Given the description of an element on the screen output the (x, y) to click on. 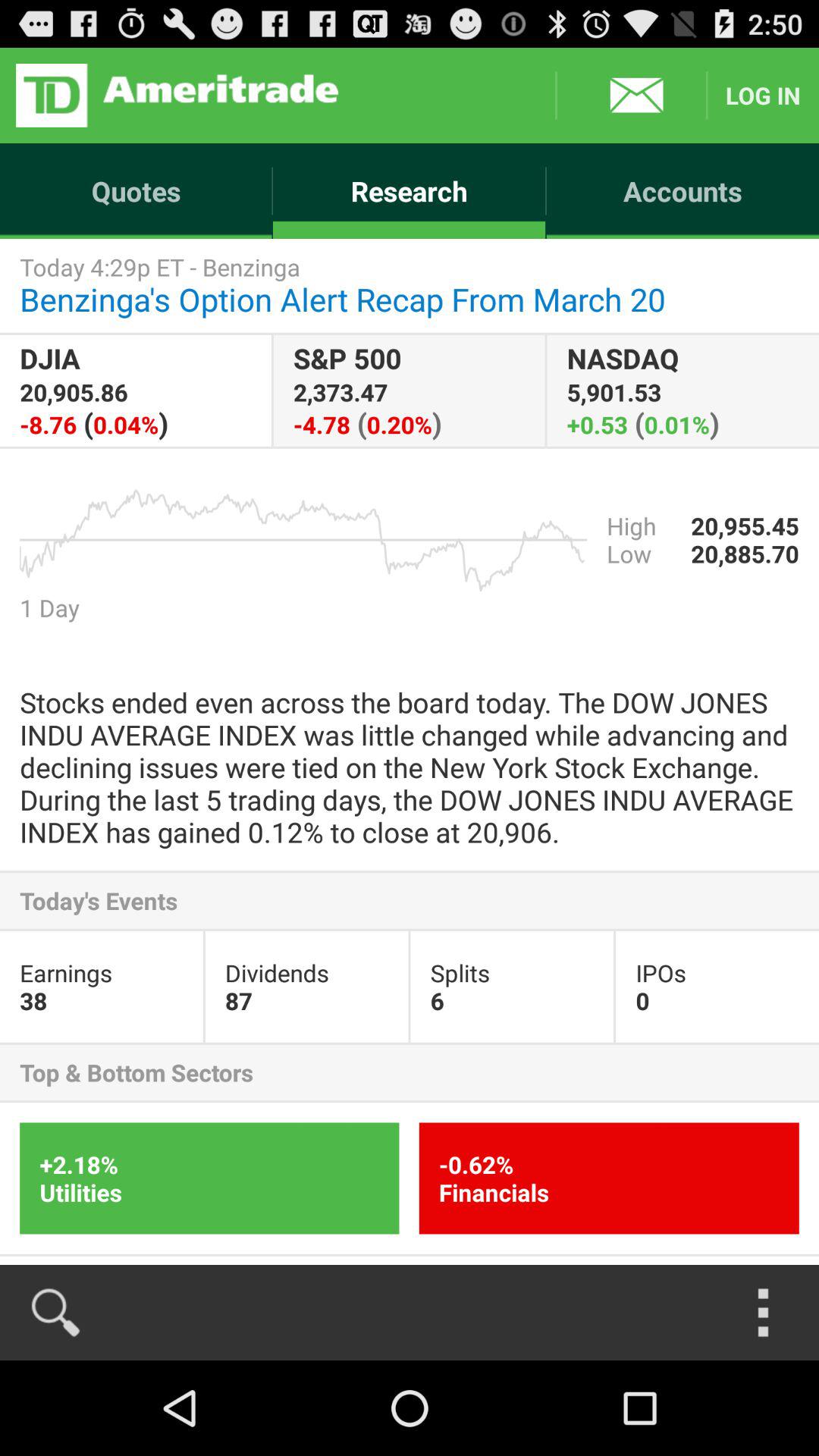
press nasdaq 5 901 app (683, 390)
